Given the description of an element on the screen output the (x, y) to click on. 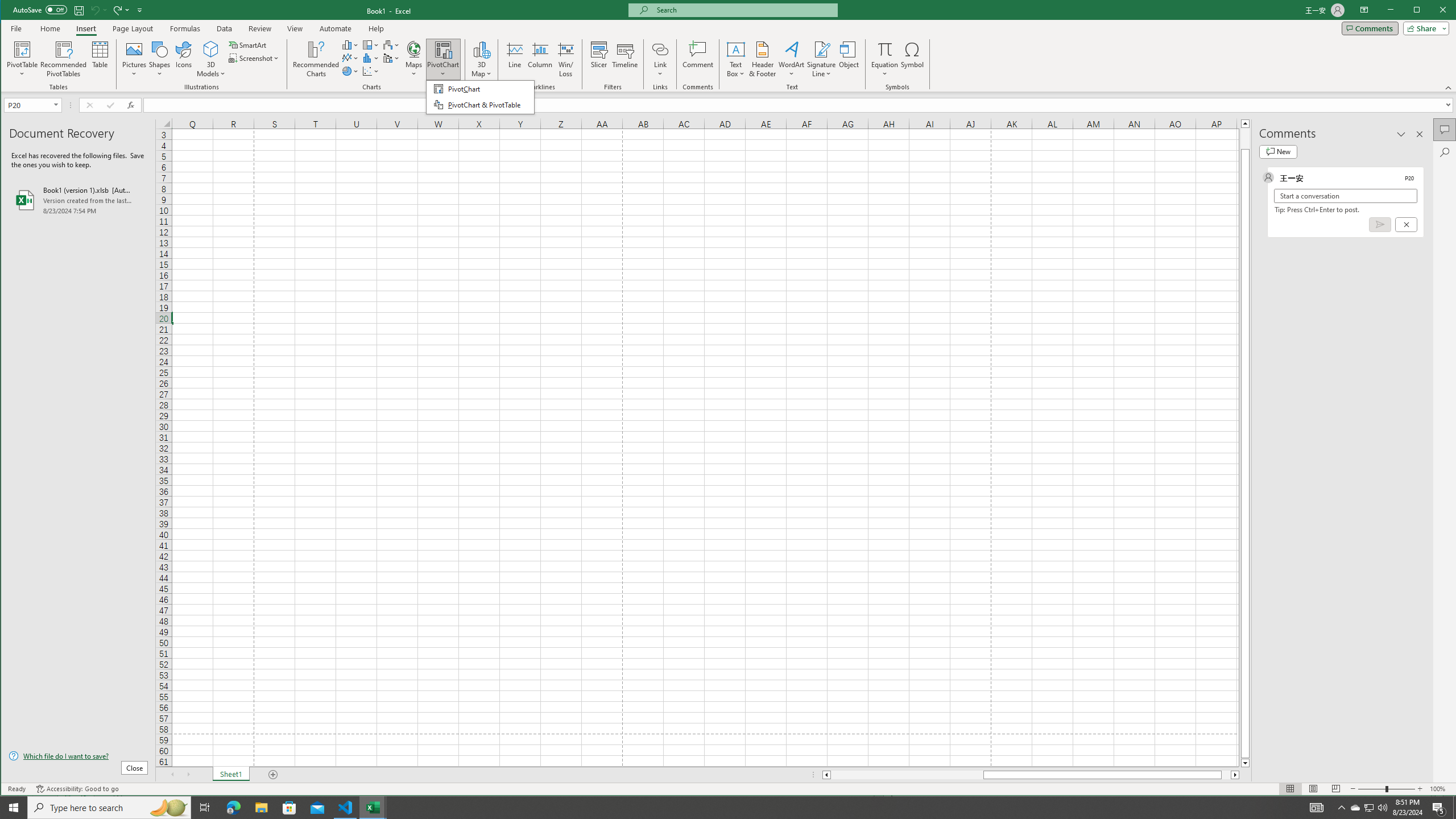
Symbol... (912, 59)
Win/Loss (565, 59)
Notification Chevron (1341, 807)
Shapes (159, 59)
Icons (183, 59)
Link (659, 48)
Equation (884, 48)
